Given the description of an element on the screen output the (x, y) to click on. 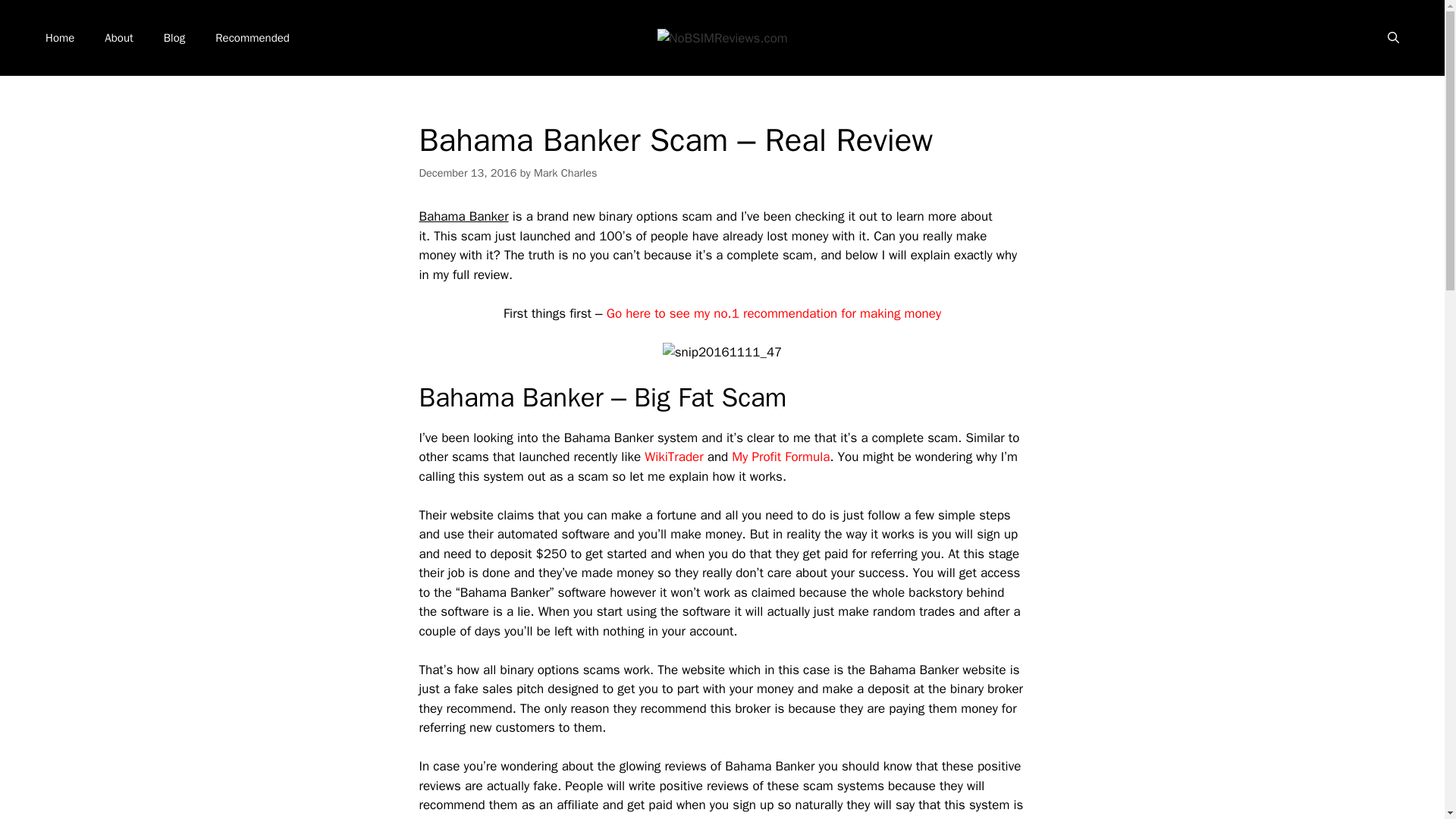
Home (59, 37)
Go here to see my no.1 recommendation for making money (773, 313)
My Profit Formula (780, 456)
Mark Charles (565, 172)
Blog (174, 37)
About (118, 37)
WikiTrader (674, 456)
Recommended (252, 37)
View all posts by Mark Charles (565, 172)
